Given the description of an element on the screen output the (x, y) to click on. 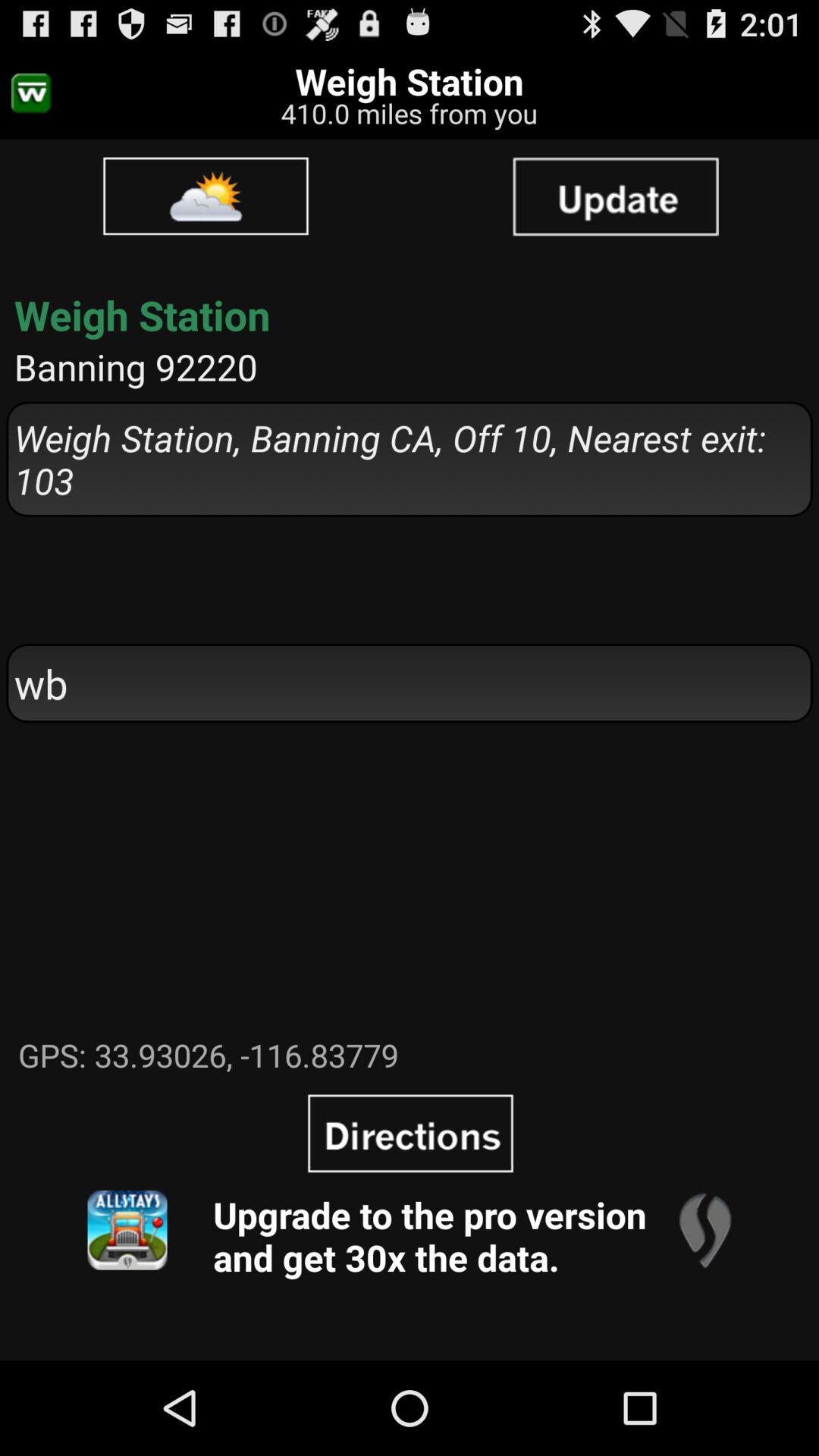
turn off the item to the right of upgrade to the (704, 1230)
